Given the description of an element on the screen output the (x, y) to click on. 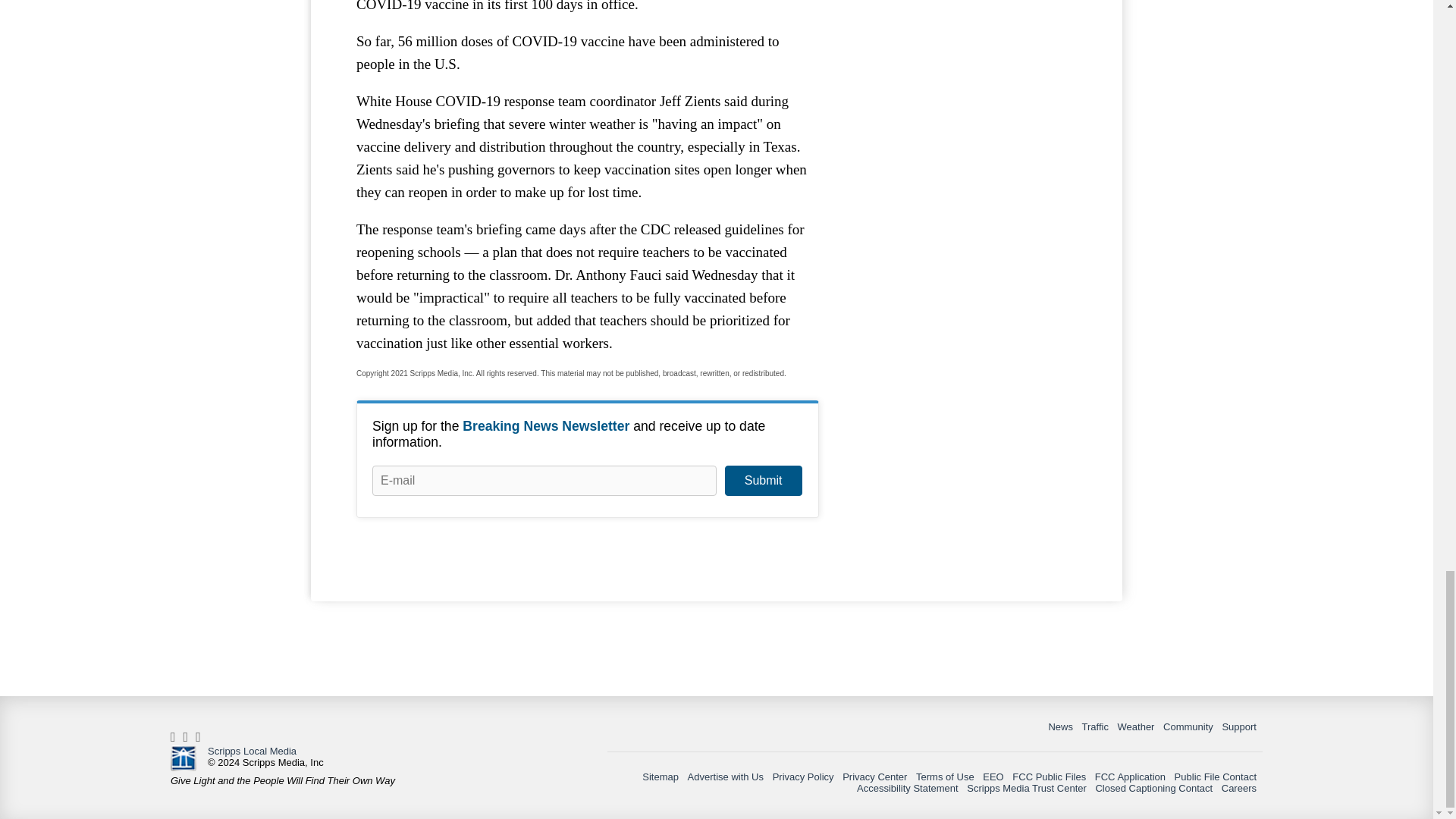
Submit (763, 481)
